Given the description of an element on the screen output the (x, y) to click on. 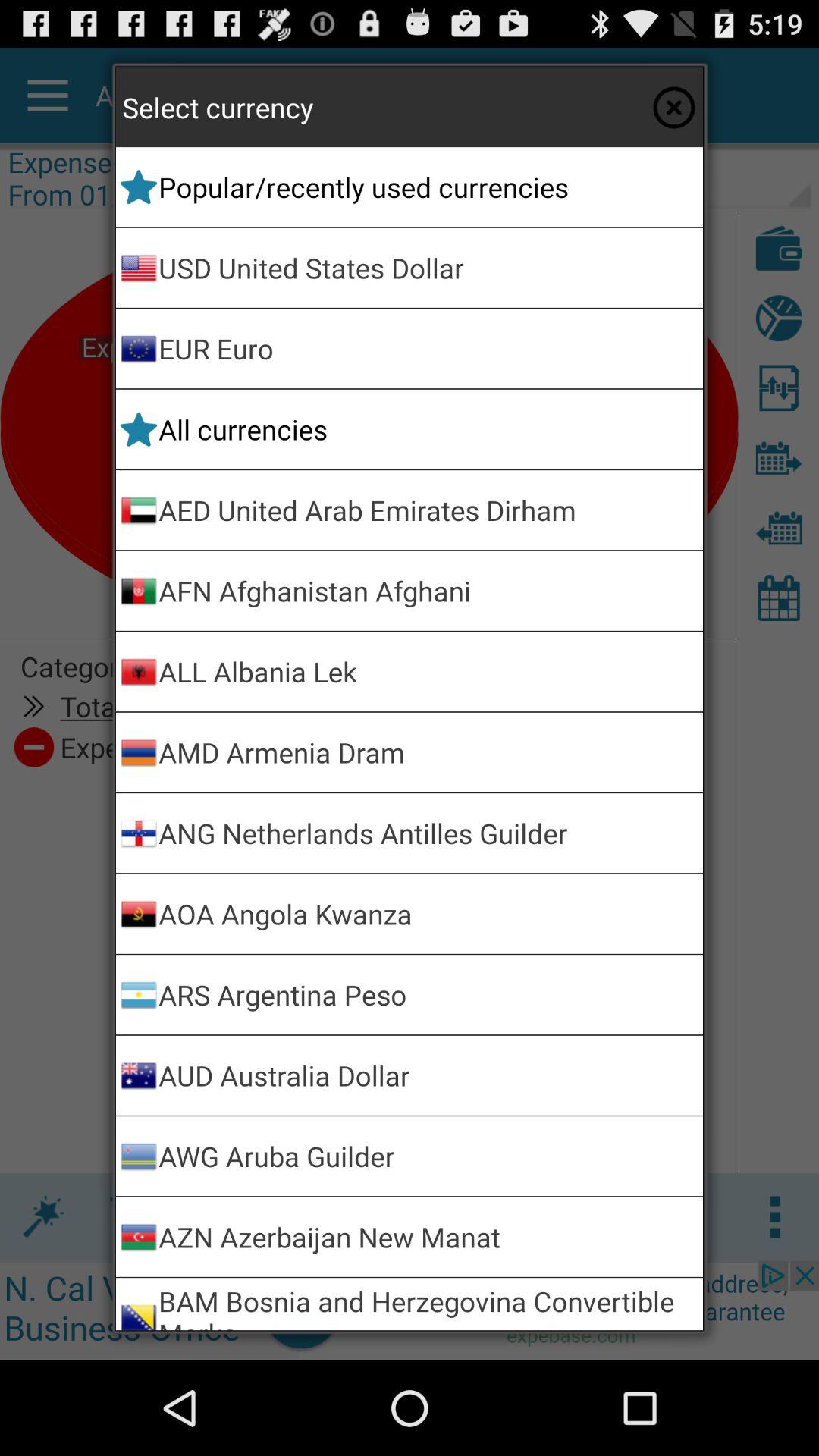
click the all currencies icon (427, 429)
